Given the description of an element on the screen output the (x, y) to click on. 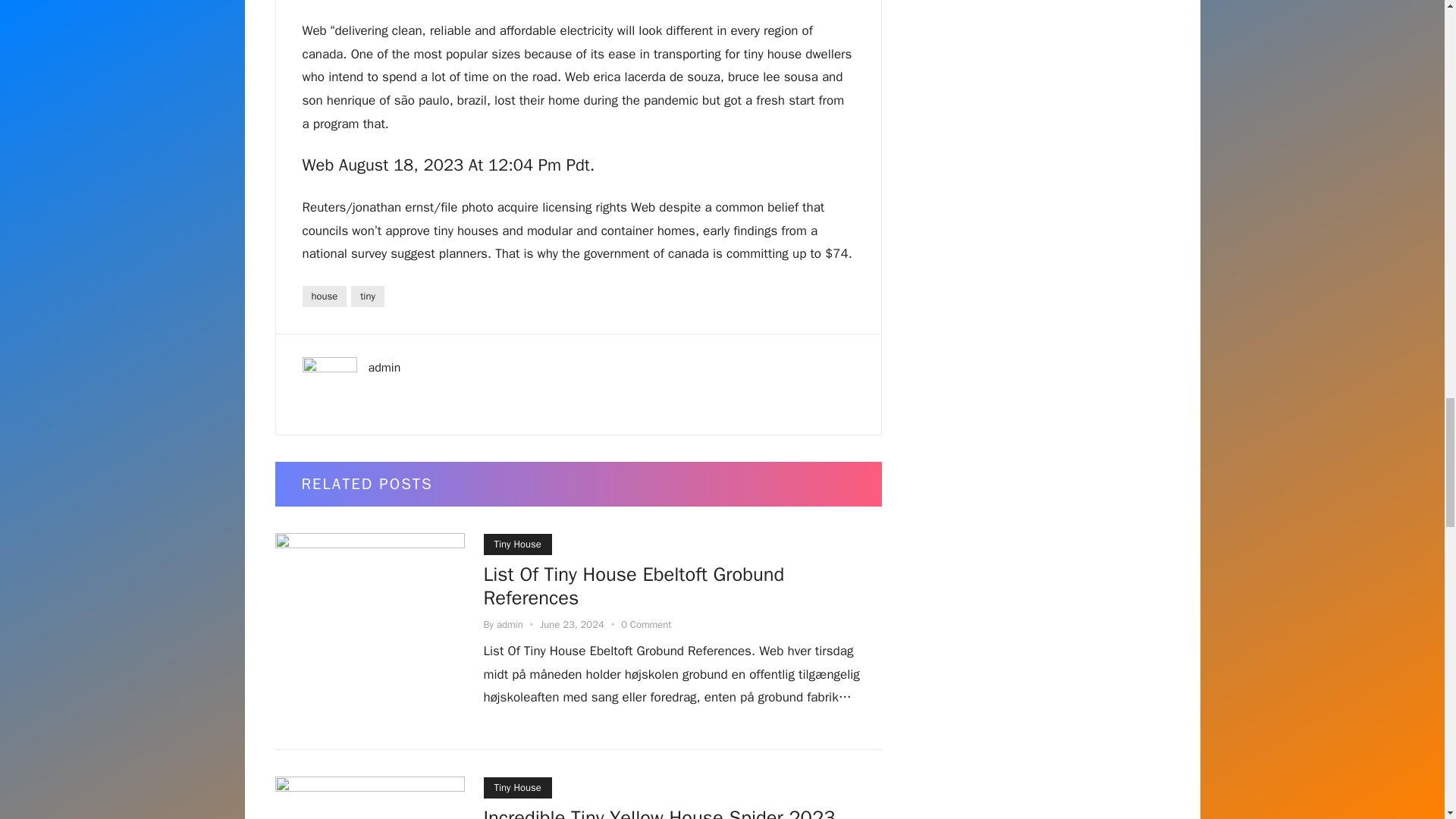
Tiny House (517, 787)
Tiny House (517, 544)
admin (509, 624)
List Of Tiny House Ebeltoft Grobund References (633, 588)
house (323, 296)
tiny (367, 296)
0 Comment (646, 624)
admin (384, 367)
Posts by admin (509, 624)
Incredible Tiny Yellow House Spider 2023 (659, 812)
